Given the description of an element on the screen output the (x, y) to click on. 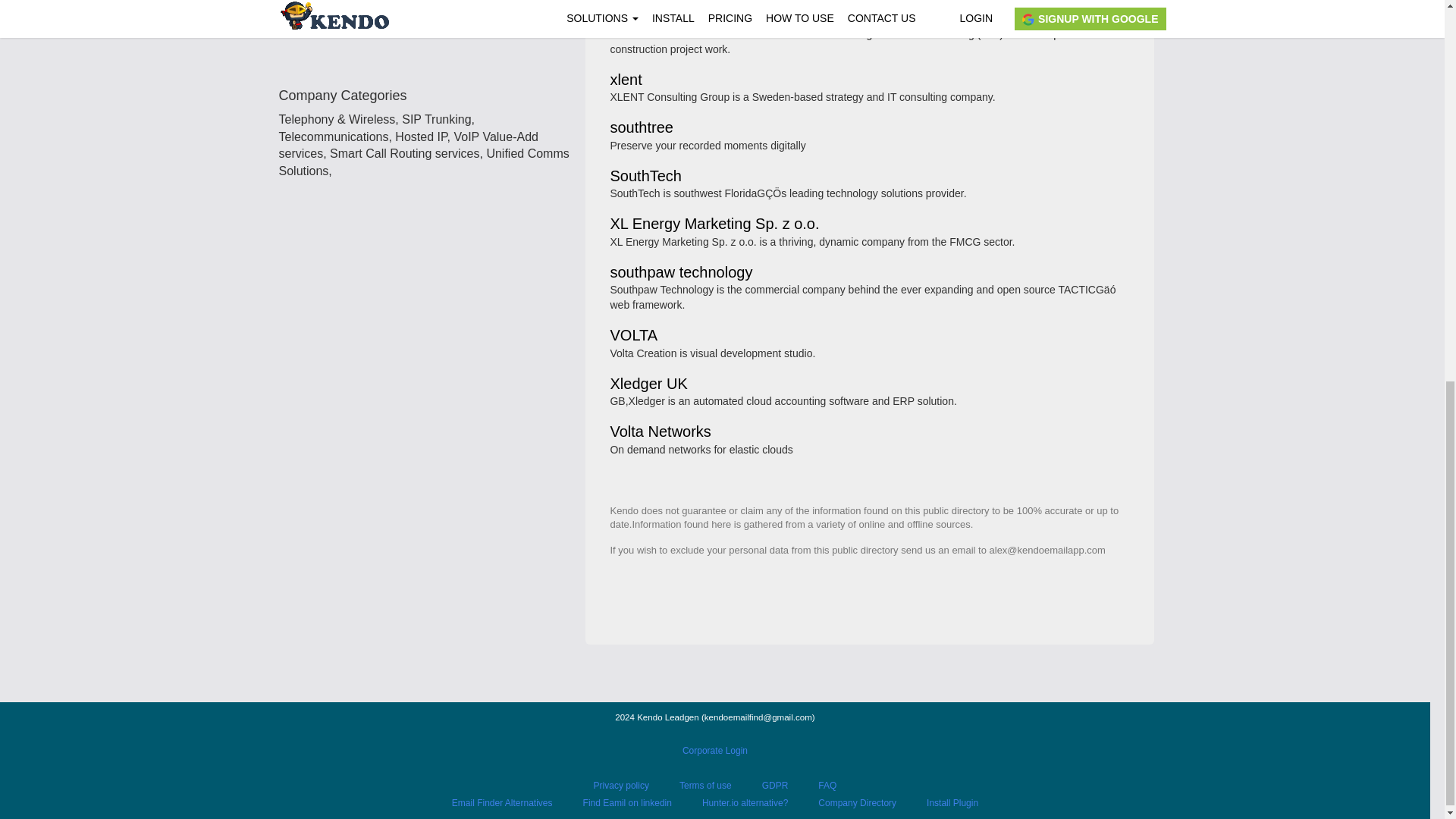
xlent (626, 80)
Xledger UK (648, 384)
southtree (641, 128)
XL Energy Marketing Sp. z o.o. (714, 224)
southpaw technology (681, 273)
XL Construction (663, 16)
Volta Networks (660, 431)
VOLTA (634, 336)
SouthTech (645, 176)
Find anyone's contact info. (425, 37)
